Given the description of an element on the screen output the (x, y) to click on. 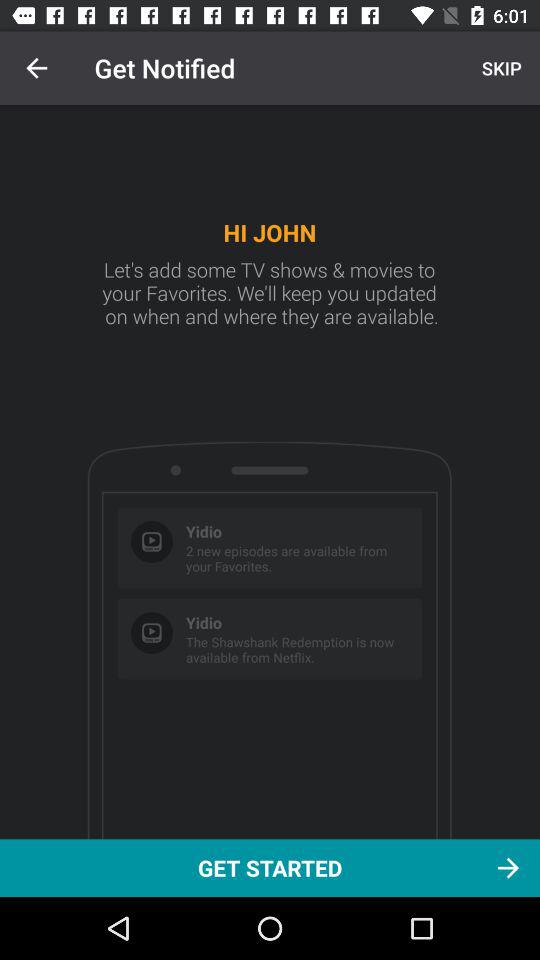
flip until skip item (499, 67)
